Given the description of an element on the screen output the (x, y) to click on. 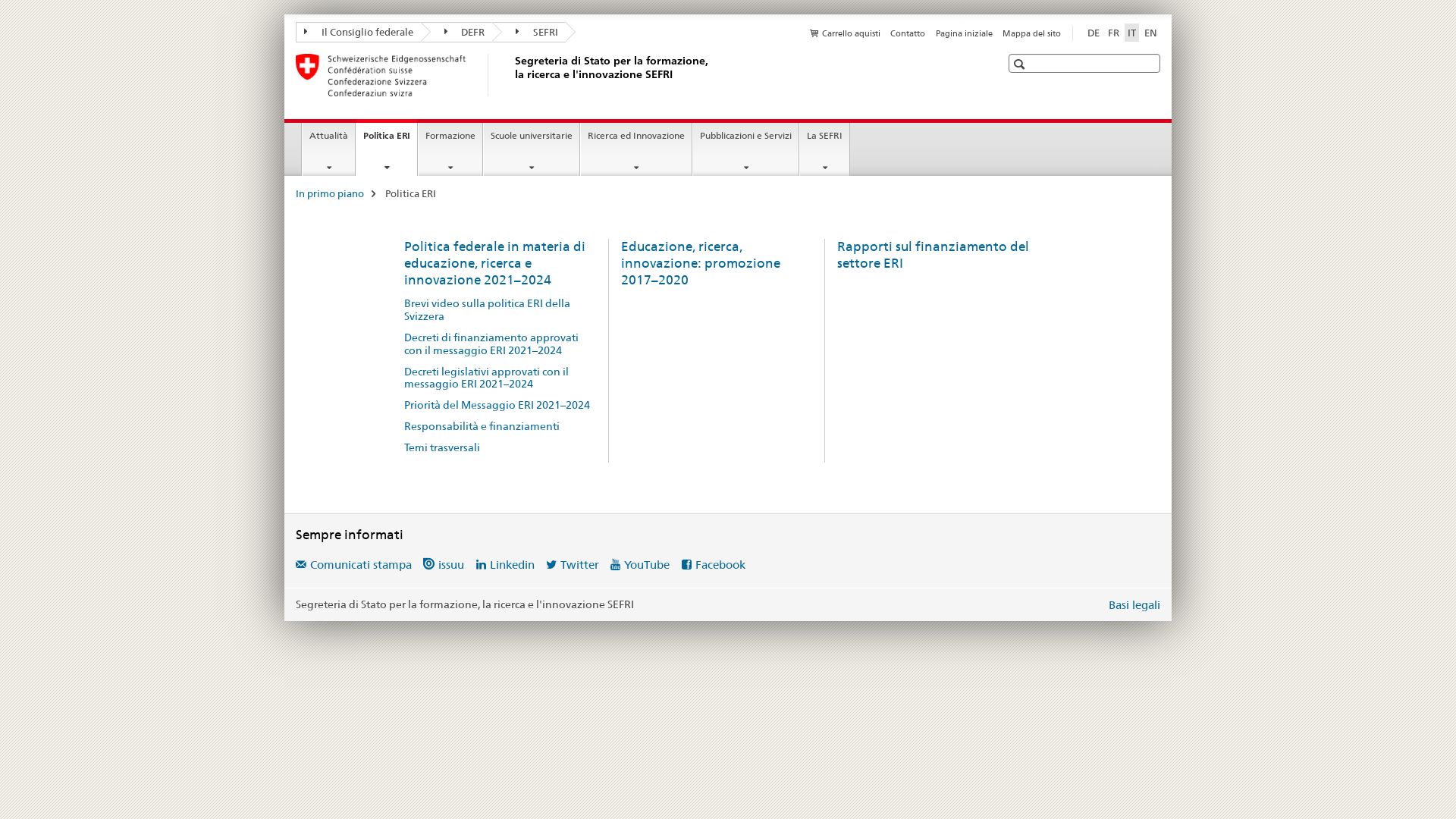
Contatto Element type: text (907, 33)
Scuole universitarie Element type: text (531, 148)
Facebook Element type: text (713, 564)
YouTube Element type: text (639, 564)
Mappa del sito Element type: text (1031, 33)
Basi legali Element type: text (1134, 604)
Temi trasversali Element type: text (499, 447)
DE Element type: text (1093, 32)
Twitter Element type: text (572, 564)
FR Element type: text (1113, 32)
Ricerca ed Innovazione Element type: text (635, 148)
Pagina iniziale Element type: text (963, 33)
Carrello aquisti Element type: text (844, 33)
Comunicati stampa Element type: text (353, 564)
Brevi video sulla politica ERI della Svizzera Element type: text (499, 310)
Linkedin Element type: text (505, 564)
DEFR Element type: text (456, 31)
In primo piano Element type: text (329, 193)
EN Element type: text (1150, 32)
Rapporti sul finanziamento del settore ERI Element type: text (933, 254)
Politica ERI
current page Element type: text (386, 147)
IT Element type: text (1131, 32)
La SEFRI Element type: text (824, 148)
issuu Element type: text (443, 564)
Il Consiglio federale Element type: text (357, 31)
Pubblicazioni e Servizi Element type: text (745, 148)
Formazione Element type: text (450, 148)
SEFRI Element type: text (528, 31)
